Given the description of an element on the screen output the (x, y) to click on. 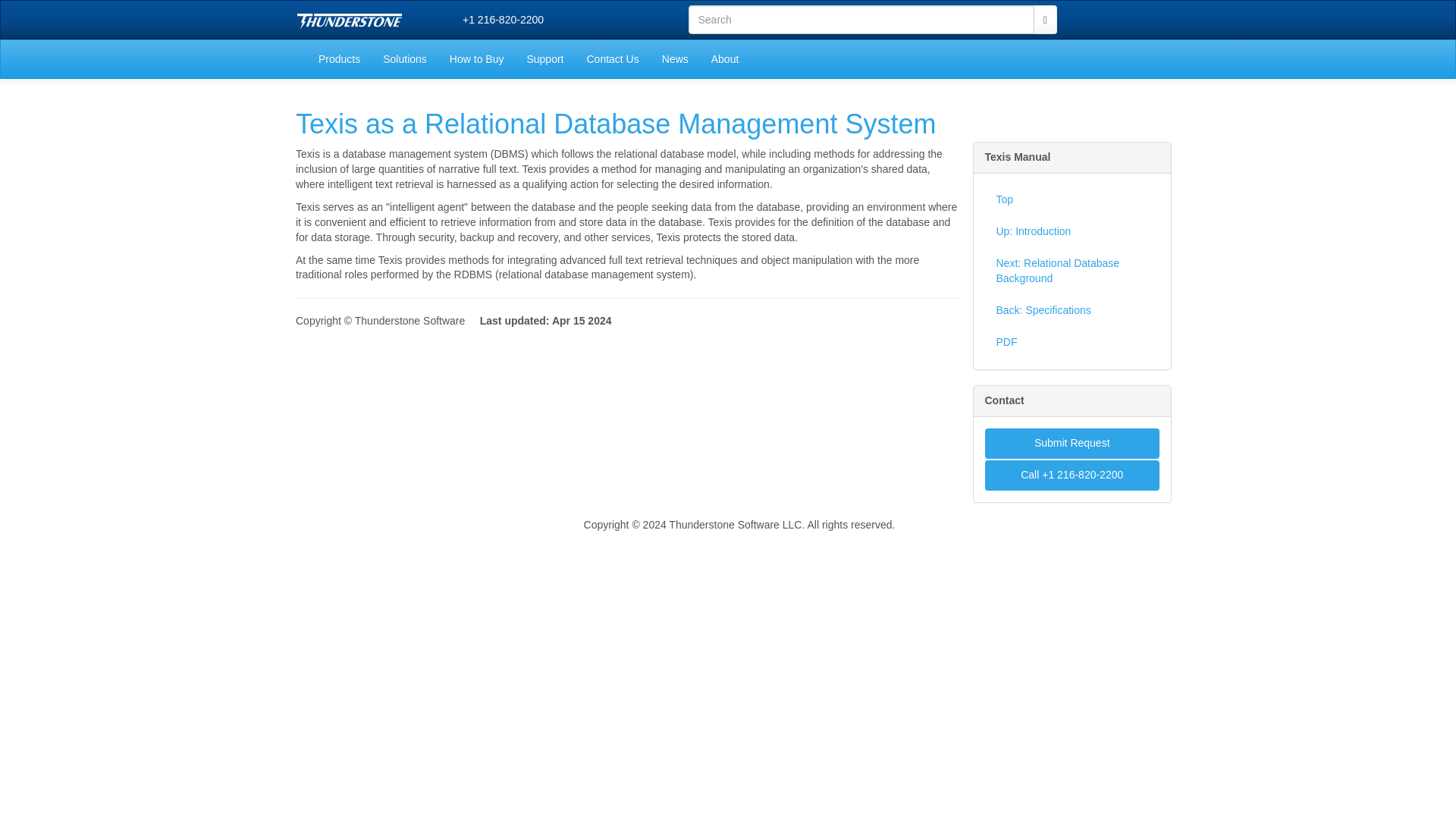
Products (339, 58)
Up: Introduction (1071, 232)
PDF (1071, 342)
Next: Relational Database Background (1071, 271)
Support (545, 58)
Back: Specifications (1071, 310)
How to Buy (476, 58)
Submit Request (1071, 443)
News (675, 58)
Top (1071, 200)
Solutions (404, 58)
Texis as a Relational Database Management System (615, 123)
Contact Us (612, 58)
About (725, 58)
